Given the description of an element on the screen output the (x, y) to click on. 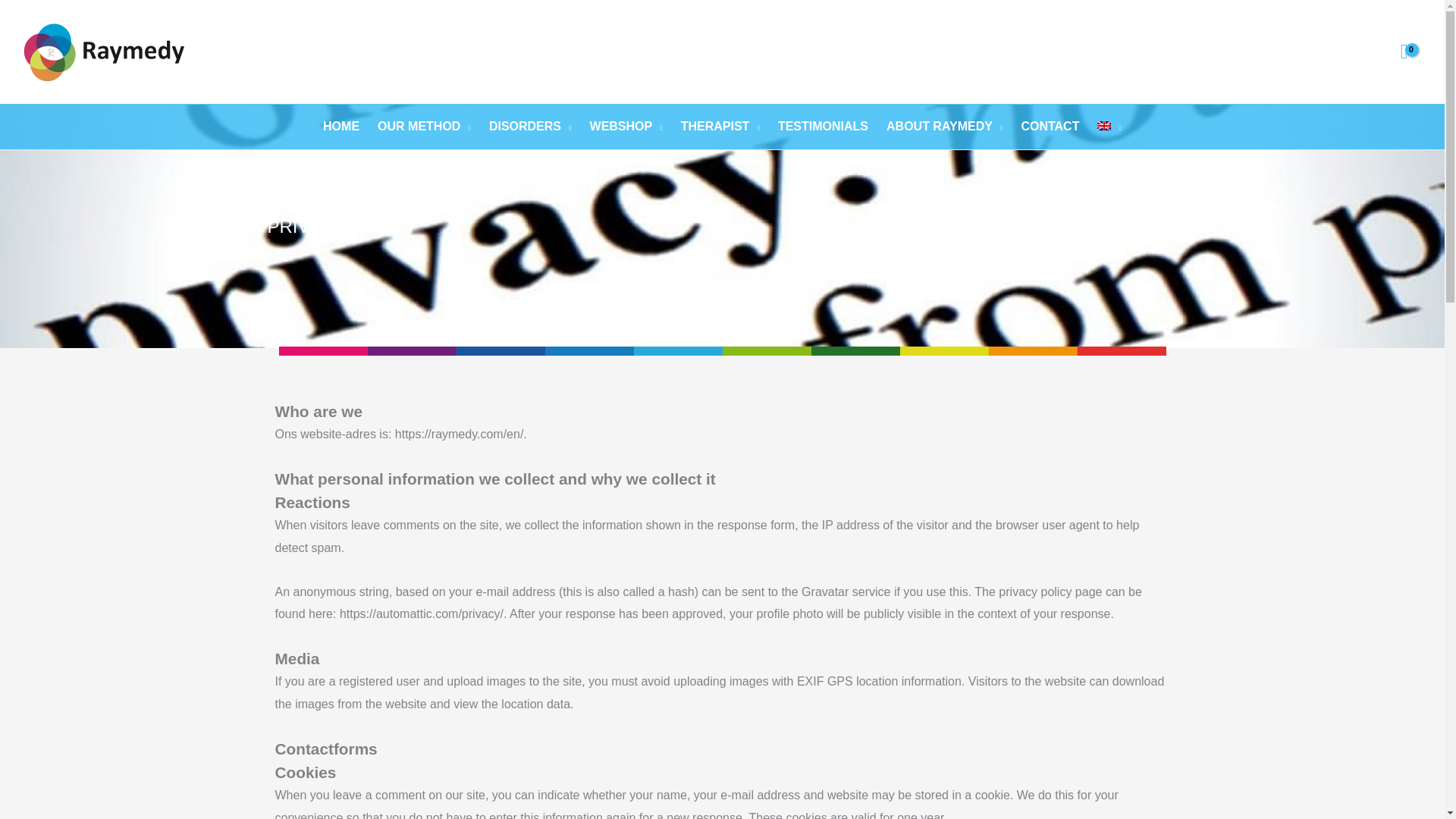
TESTIMONIALS (822, 126)
ABOUT RAYMEDY (944, 126)
HOME (341, 126)
THERAPIST (719, 126)
WEBSHOP (625, 126)
OUR METHOD (424, 126)
CONTACT (1049, 126)
DISORDERS (530, 126)
